Given the description of an element on the screen output the (x, y) to click on. 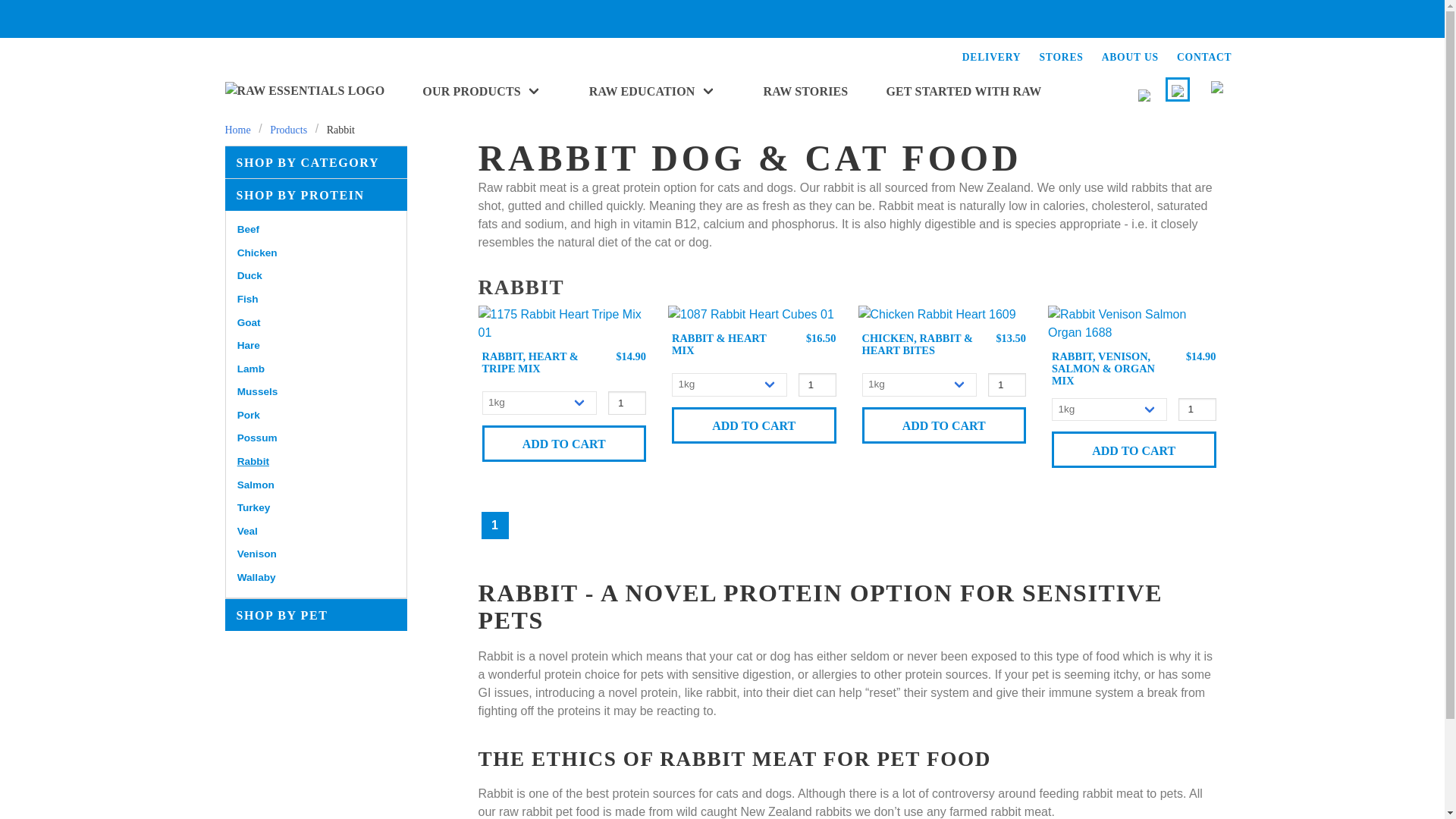
1175 Rabbit Heart Tripe Mix 01 (563, 323)
1087 Rabbit Heart Cubes 01 (751, 314)
Add to cart (563, 443)
1 (816, 384)
Add to cart (943, 425)
Add to cart (1133, 449)
1 (1007, 384)
STORES (1061, 57)
Add to cart (753, 425)
ABOUT US (1130, 57)
